Given the description of an element on the screen output the (x, y) to click on. 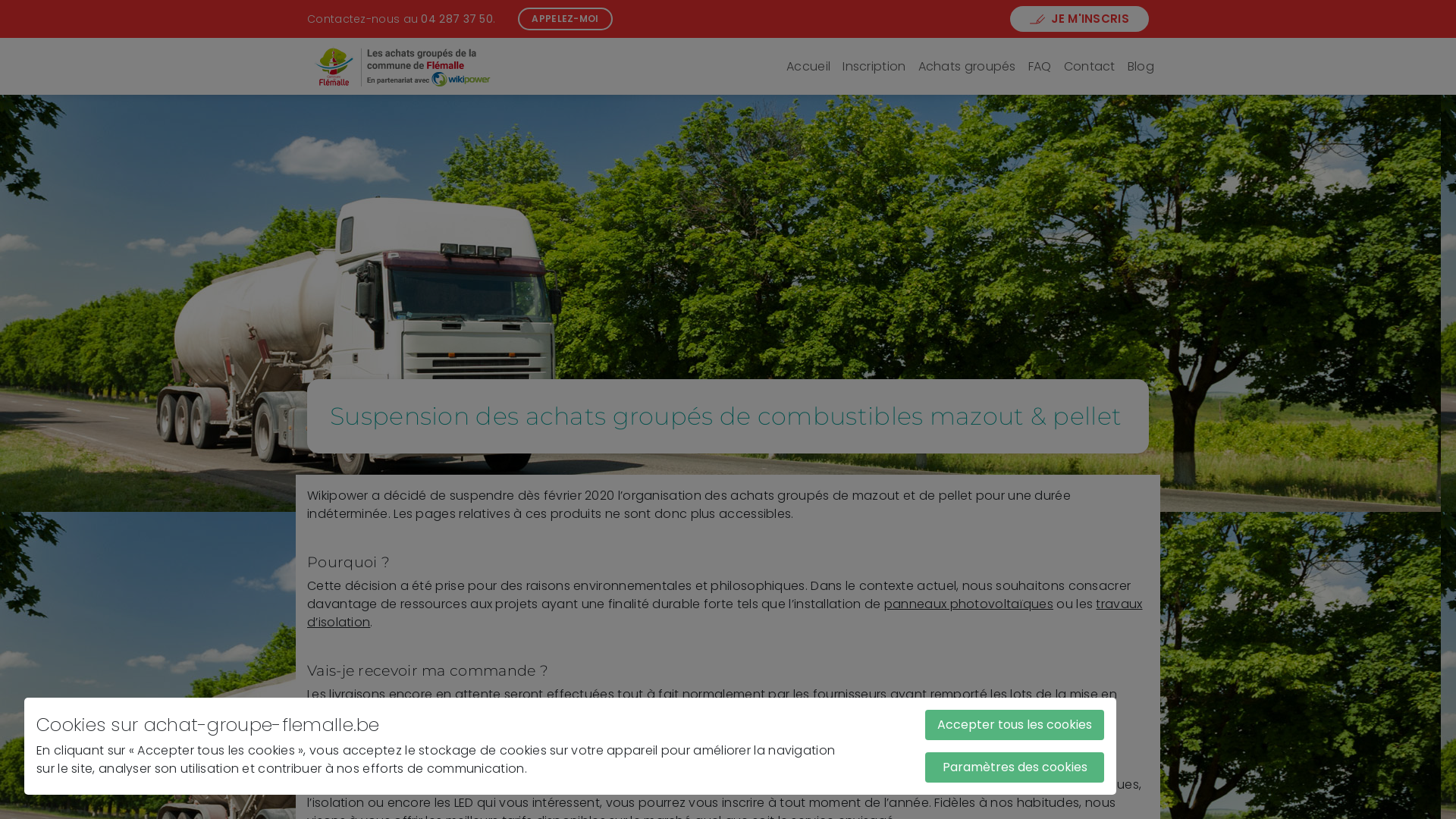
Contact Element type: text (1089, 66)
JE M'INSCRIS Element type: text (1079, 19)
Accueil Element type: text (808, 66)
APPELEZ-MOI Element type: text (564, 18)
Blog Element type: text (1140, 66)
04 287 37 50 Element type: text (456, 17)
FAQ Element type: text (1039, 66)
Accepter tous les cookies Element type: text (1014, 724)
Inscription Element type: text (873, 66)
